Given the description of an element on the screen output the (x, y) to click on. 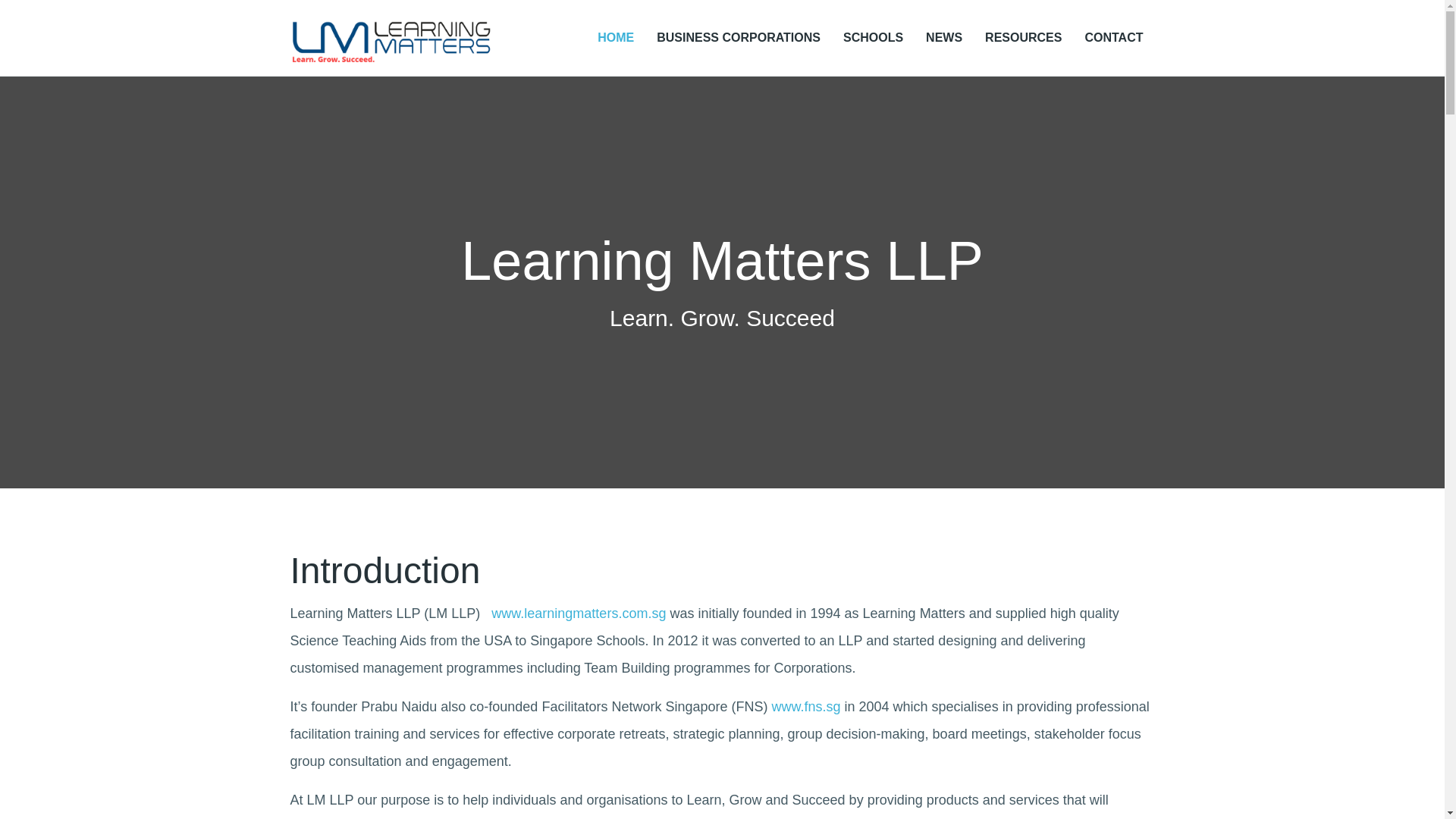
HOME (619, 37)
CONTACT (1109, 37)
RESOURCES (1026, 37)
www.learningmatters.com.sg (578, 613)
SCHOOLS (876, 37)
Learning Matters LLP (391, 24)
BUSINESS CORPORATIONS (742, 37)
www.fns.sg (805, 706)
NEWS (947, 37)
